Given the description of an element on the screen output the (x, y) to click on. 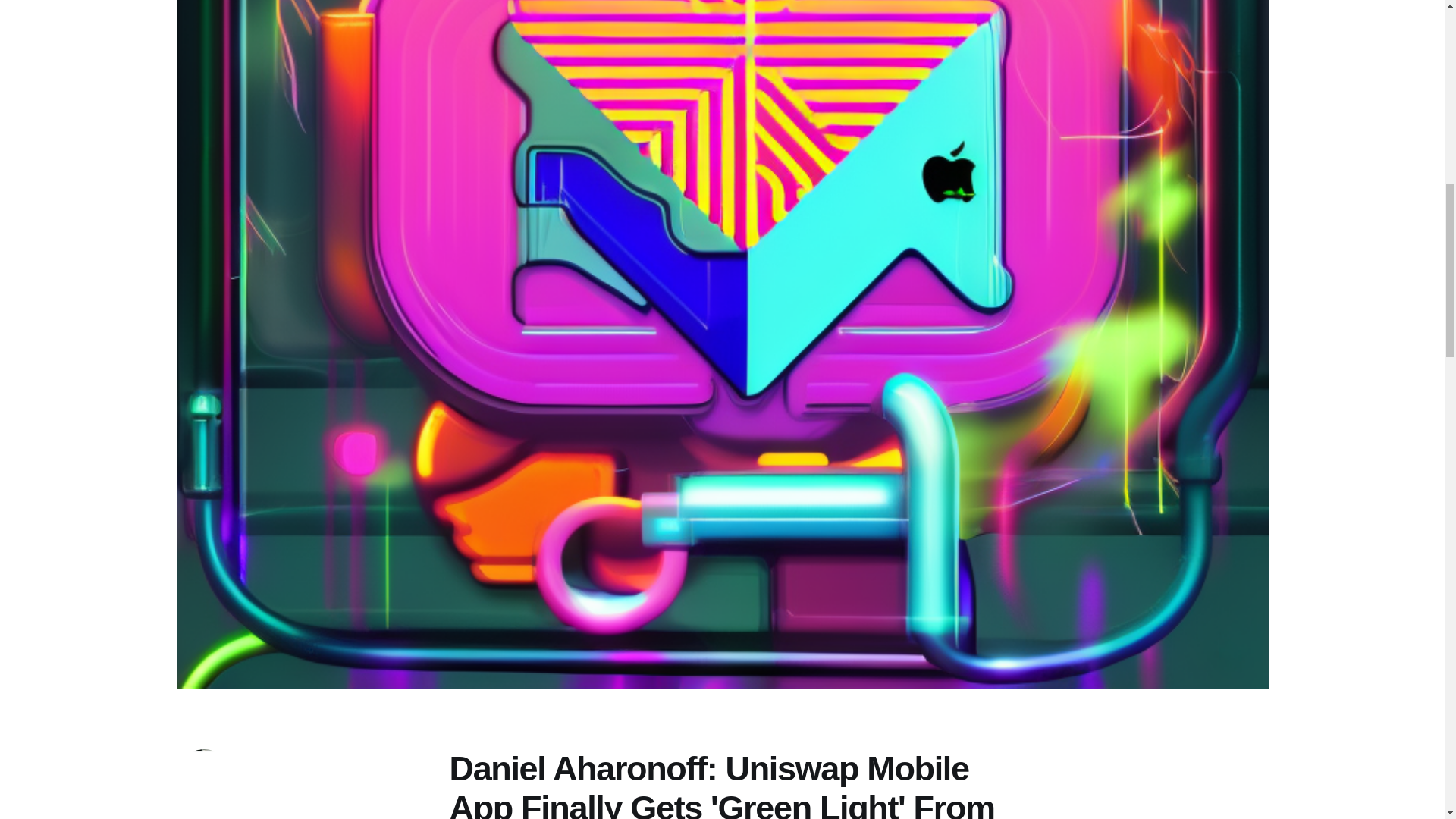
Daniel Aharonoff (232, 817)
